Given the description of an element on the screen output the (x, y) to click on. 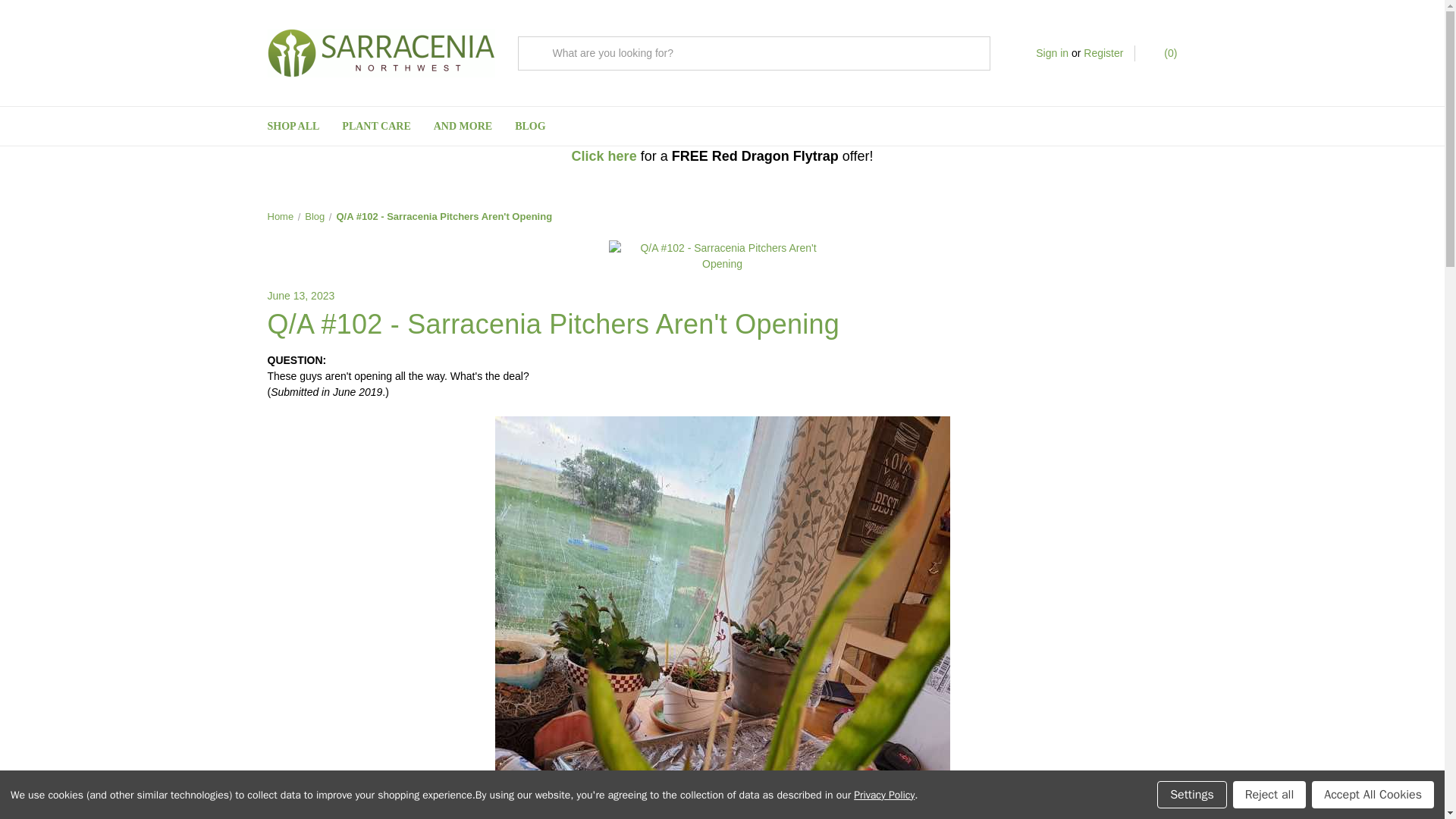
PLANT CARE (376, 126)
Sarracenia Northwest (380, 52)
Register (1102, 53)
SHOP ALL (293, 126)
Sign in (1051, 53)
